Given the description of an element on the screen output the (x, y) to click on. 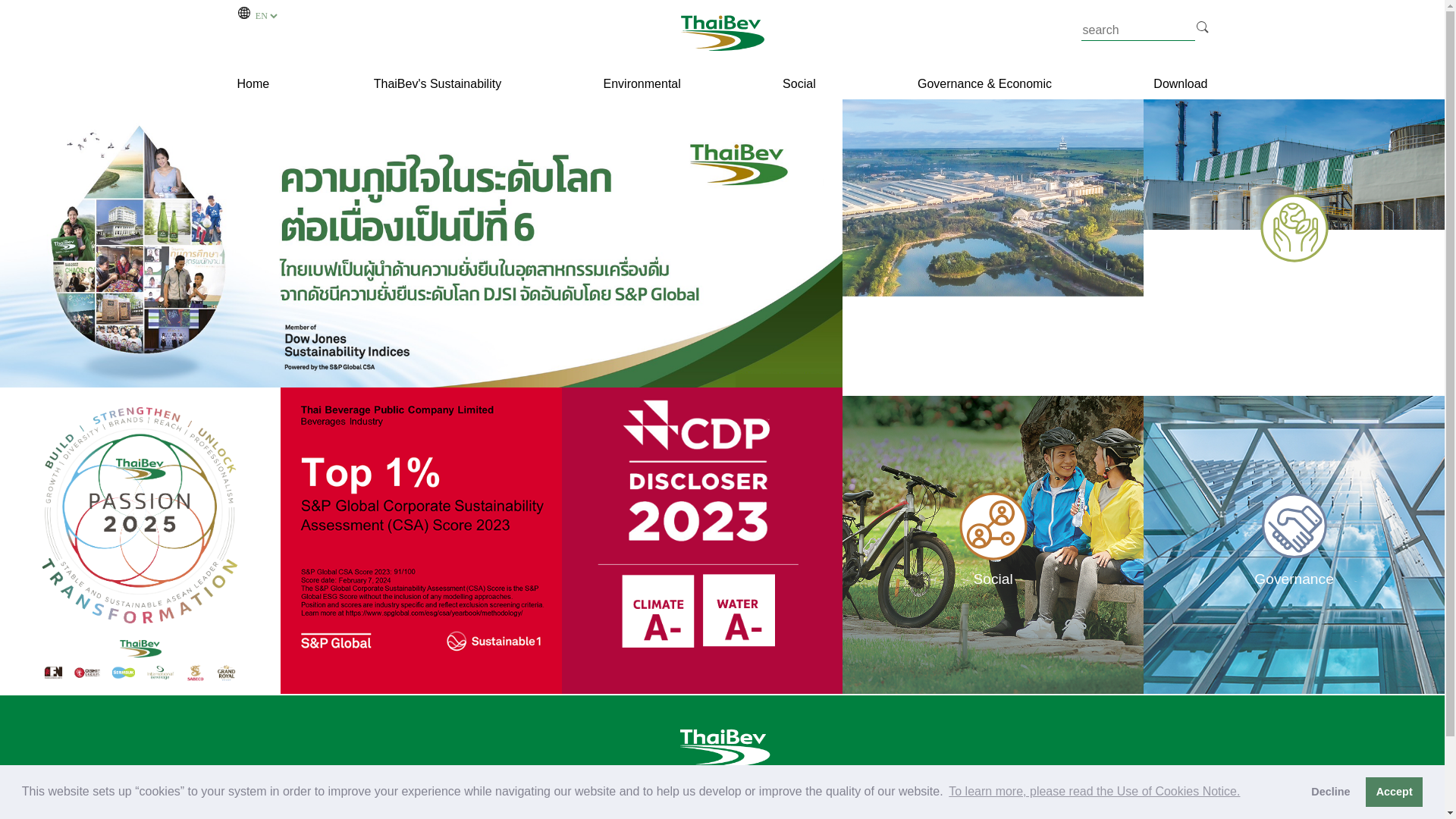
Home (254, 84)
ThaiBev's Sustainability (437, 83)
Accept (1393, 791)
Download (1179, 83)
To learn more, please read the Use of Cookies Notice. (1094, 791)
Decline (1330, 791)
Social (799, 83)
Environmental (641, 83)
